Given the description of an element on the screen output the (x, y) to click on. 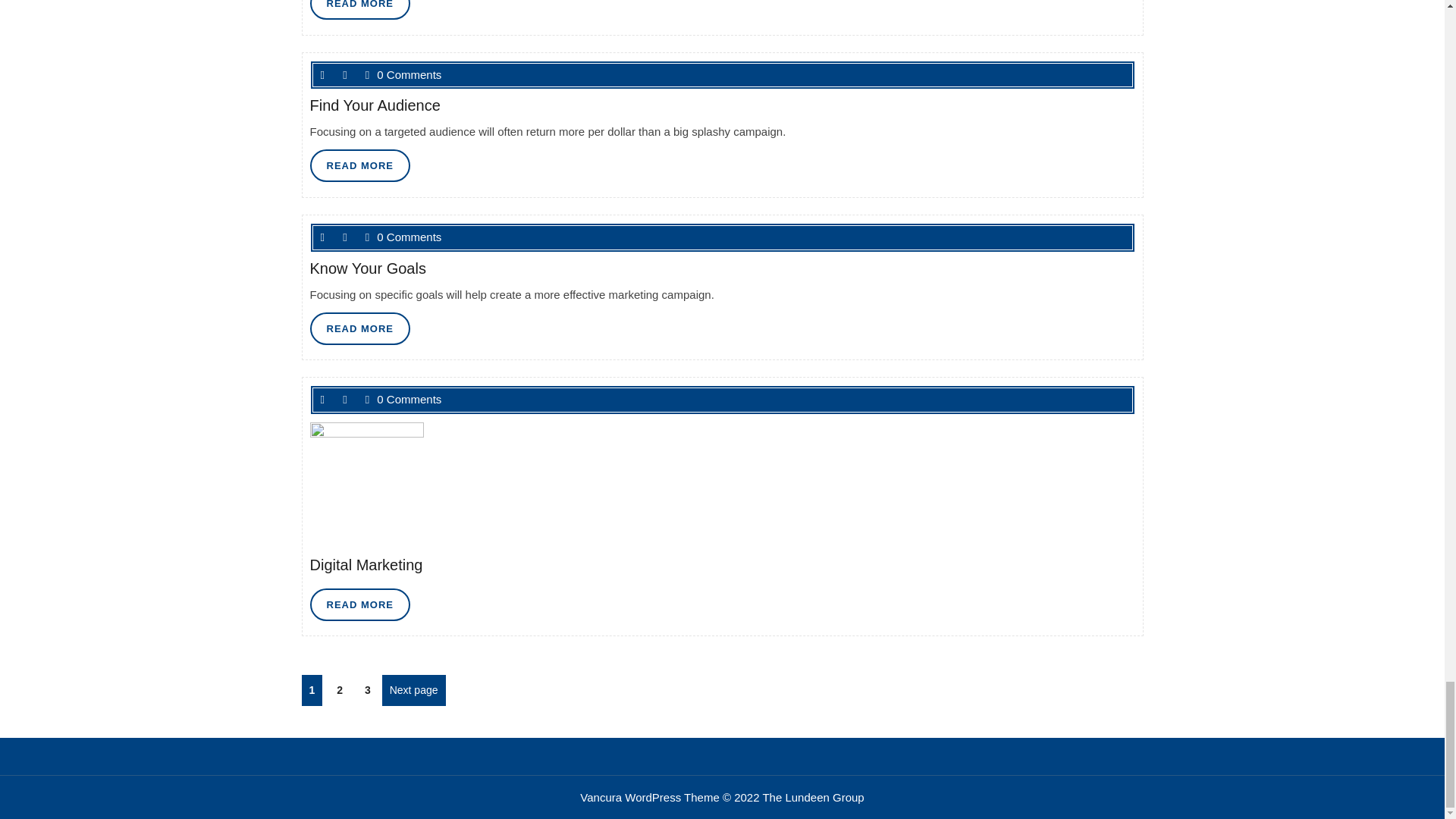
Next page (413, 689)
READ MORE (358, 328)
READ MORE (358, 9)
READ MORE (358, 328)
READ MORE (358, 165)
Vancura WordPress Theme (358, 9)
